Given the description of an element on the screen output the (x, y) to click on. 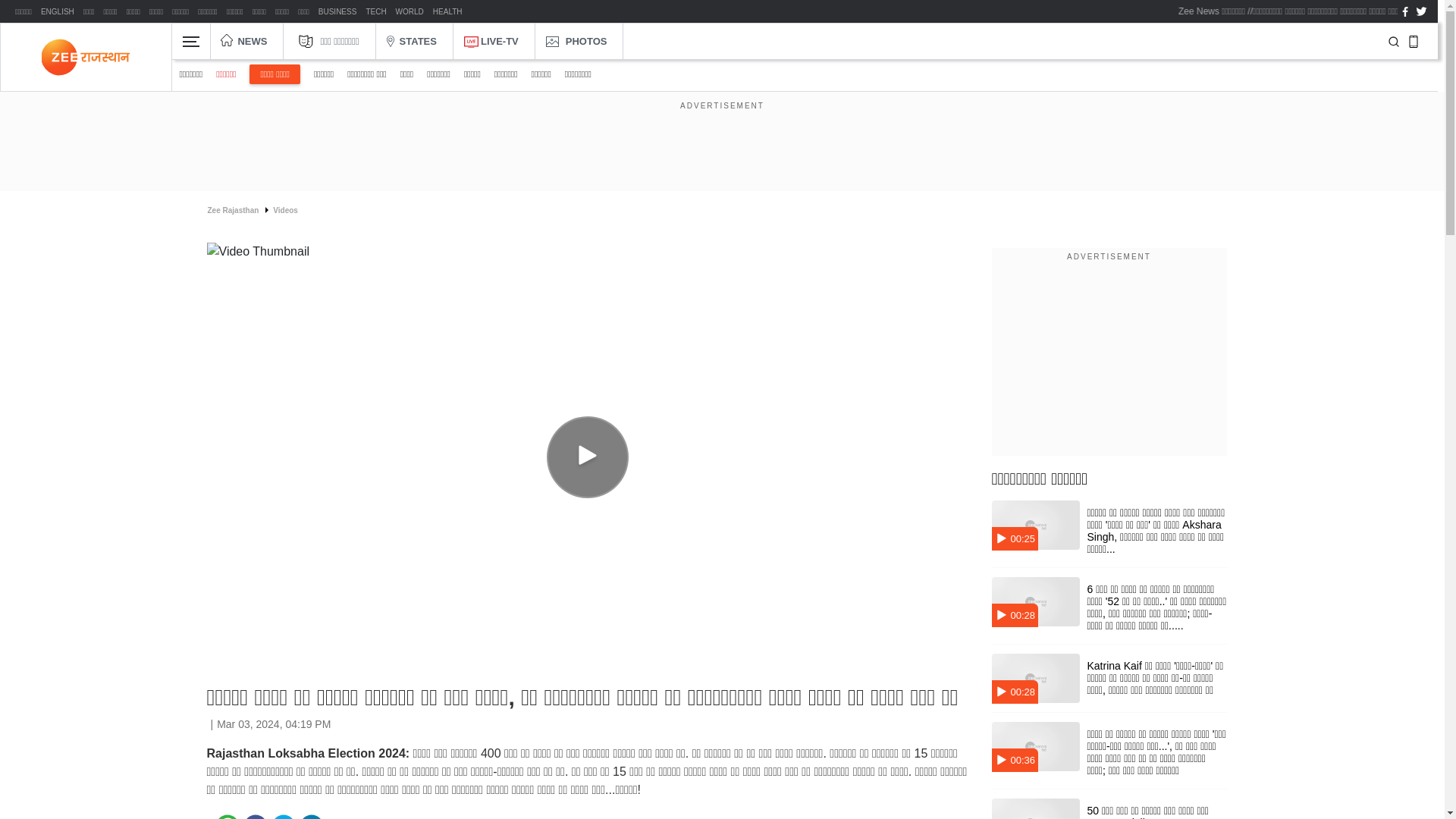
Zee Bharat (88, 11)
HEALTH (447, 11)
Tamil News (155, 11)
NEWS (243, 41)
Gujarati News (207, 11)
Kannada News (258, 11)
PHOTOS (576, 41)
Zee Salaam (304, 11)
Share on whatsapp (227, 816)
BUSINESS (337, 11)
